Given the description of an element on the screen output the (x, y) to click on. 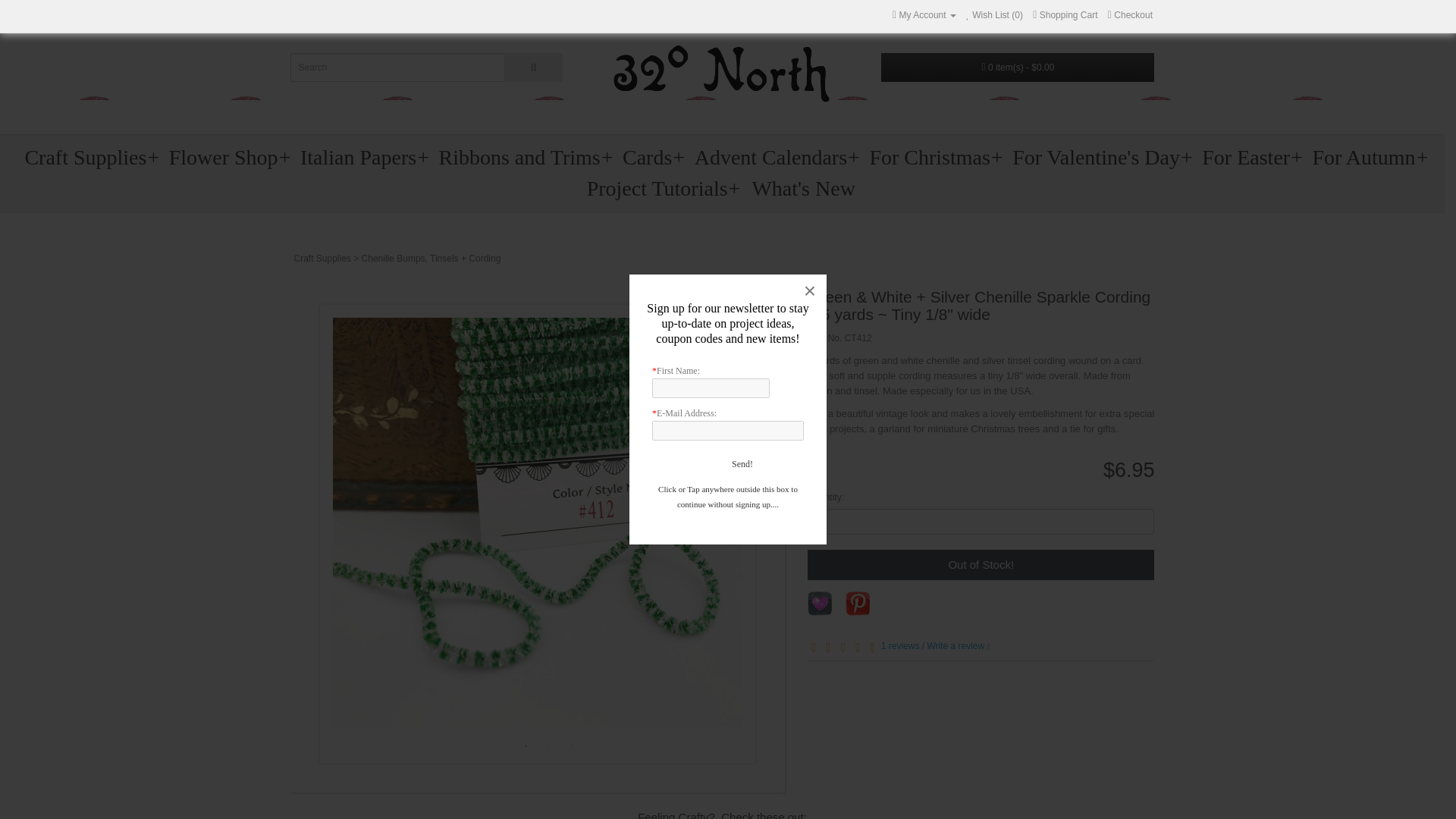
Checkout (1130, 14)
My Account (924, 14)
Send! (763, 463)
Shopping Cart (1064, 14)
What's New (803, 187)
1 (981, 521)
My Account (924, 14)
